Given the description of an element on the screen output the (x, y) to click on. 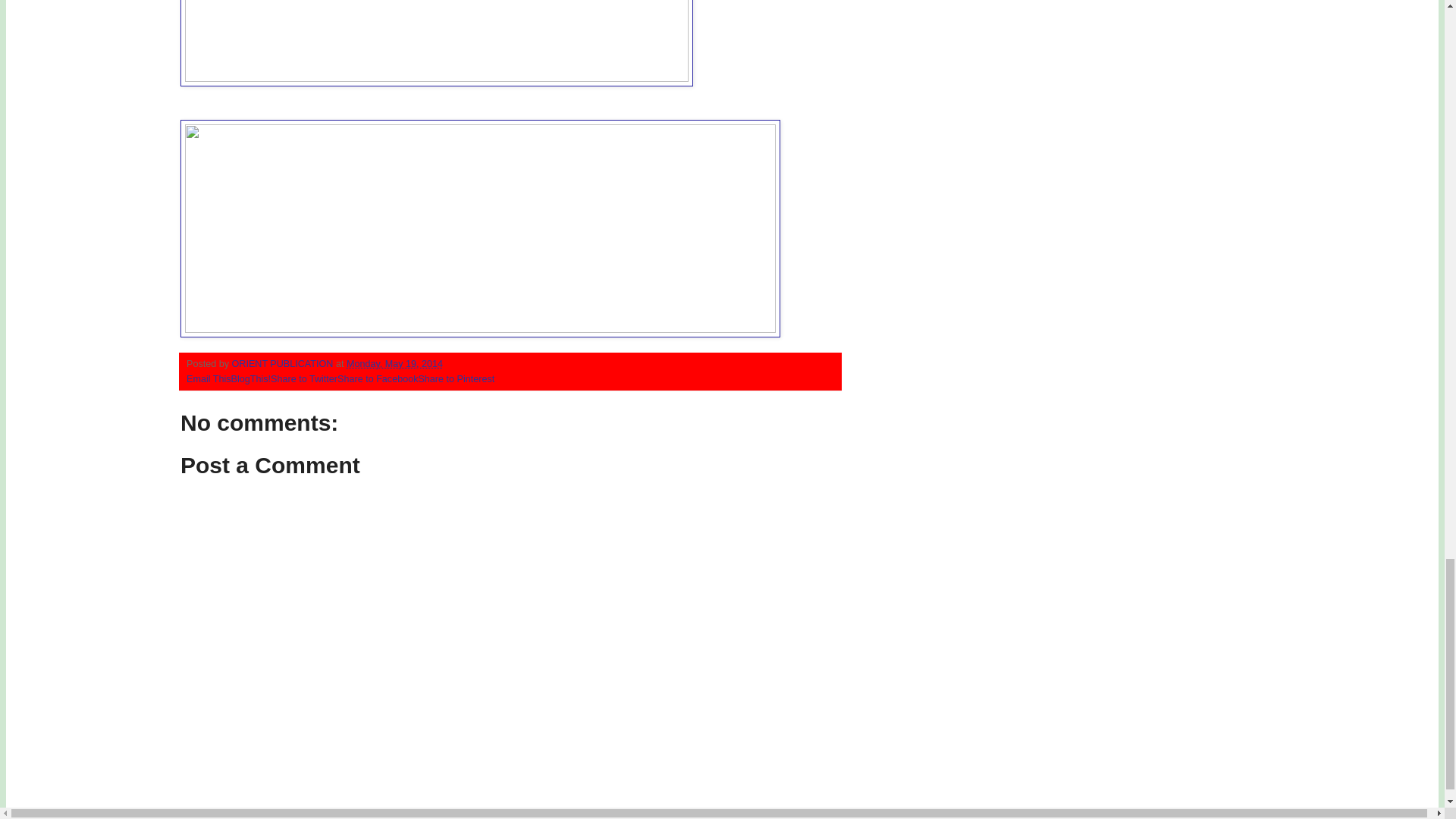
BlogThis! (250, 378)
Monday, May 19, 2014 (394, 363)
permanent link (394, 363)
Share to Facebook (377, 378)
Share to Pinterest (456, 378)
ORIENT PUBLICATION (283, 363)
Share to Twitter (303, 378)
Share to Pinterest (456, 378)
Email This (208, 378)
BlogThis! (250, 378)
